Given the description of an element on the screen output the (x, y) to click on. 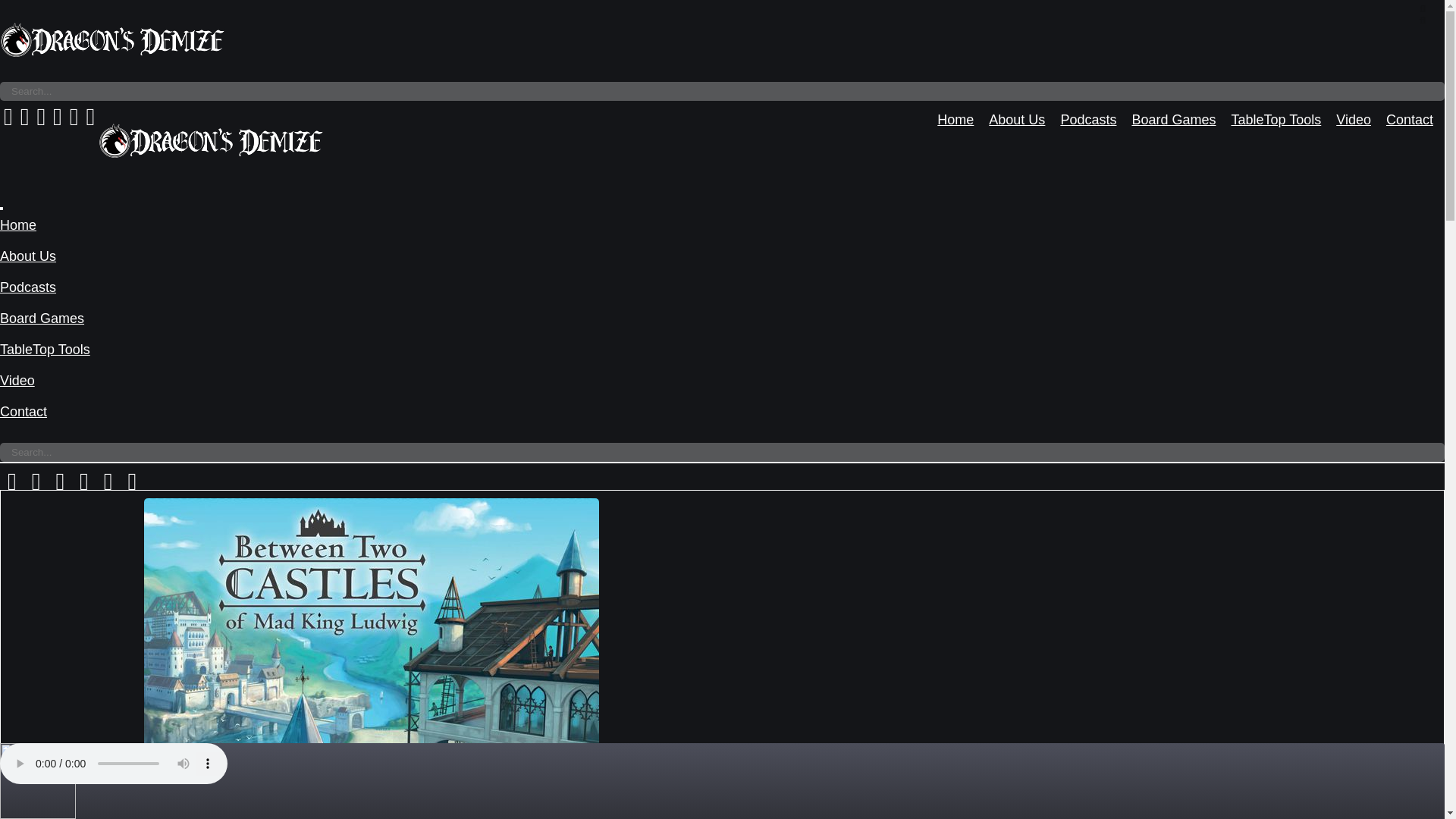
Contact (1409, 119)
Contact (23, 411)
Video (1353, 119)
Podcasts (1087, 119)
About Us (28, 255)
TableTop Tools (45, 349)
Board Games (42, 318)
Video (17, 380)
Home (955, 119)
Podcasts (28, 287)
Board Games (1173, 119)
TableTop Tools (1275, 119)
Home (18, 224)
About Us (1016, 119)
